Given the description of an element on the screen output the (x, y) to click on. 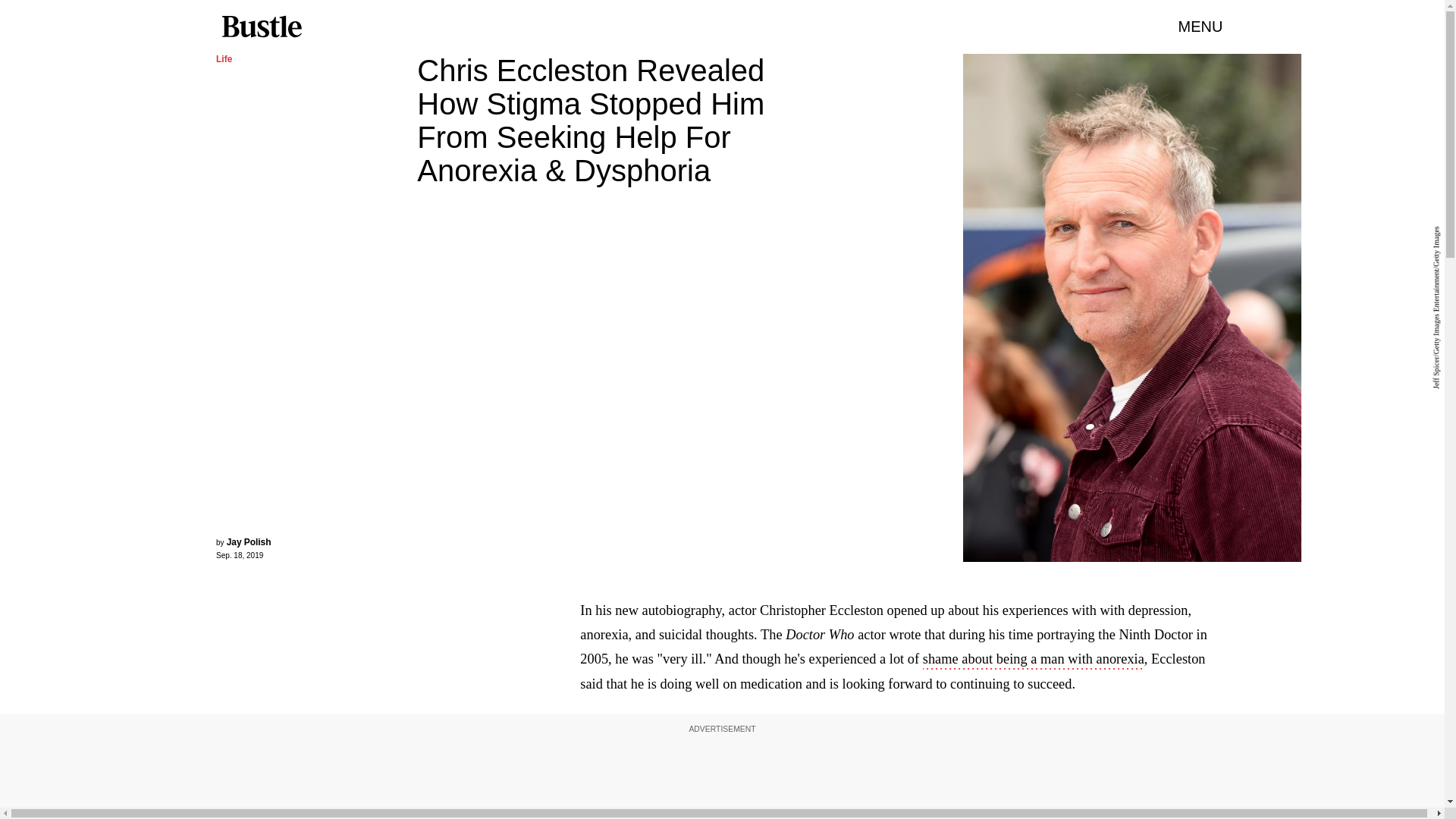
shame about being a man with anorexia (1033, 660)
Jay Polish (248, 542)
Bustle (261, 26)
